Given the description of an element on the screen output the (x, y) to click on. 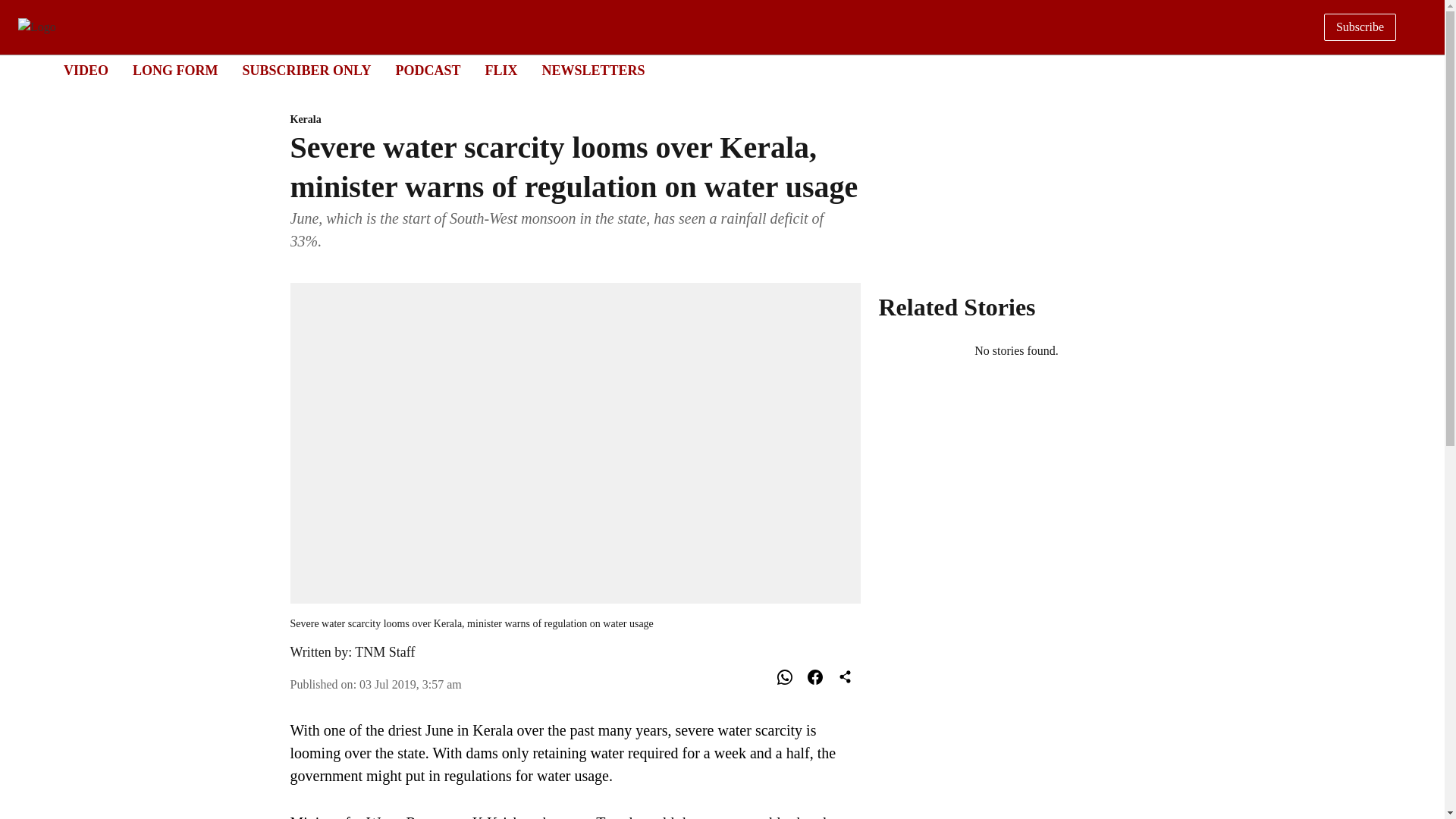
TNM Staff (384, 652)
FLIX (500, 70)
2019-07-03 03:57 (410, 684)
LONG FORM (175, 70)
SUBSCRIBER ONLY (307, 70)
VIDEO (707, 70)
Kerala (85, 70)
NEWSLETTERS (574, 119)
PODCAST (593, 70)
